Given the description of an element on the screen output the (x, y) to click on. 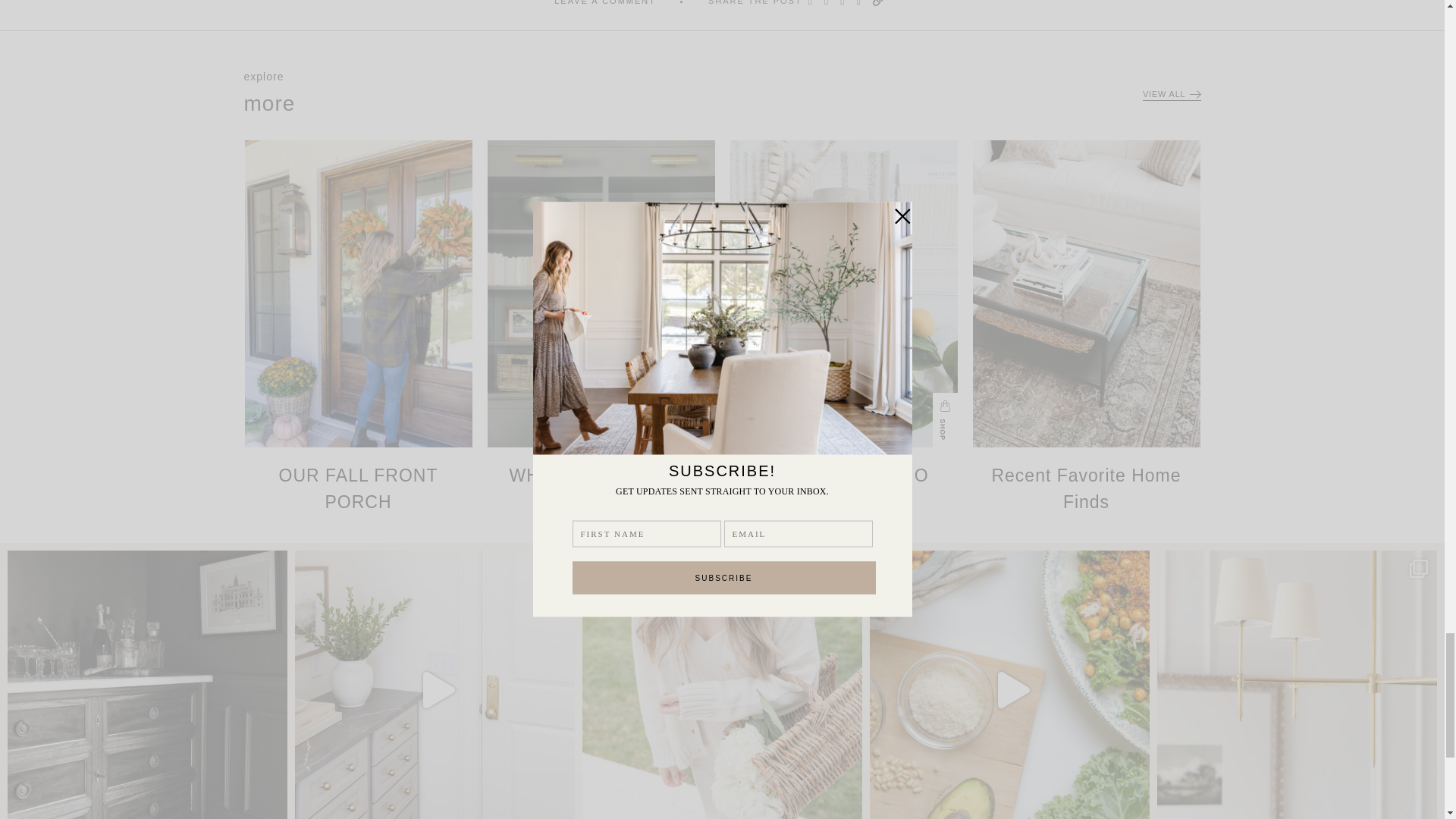
LEAVE A COMMENT (605, 3)
